Given the description of an element on the screen output the (x, y) to click on. 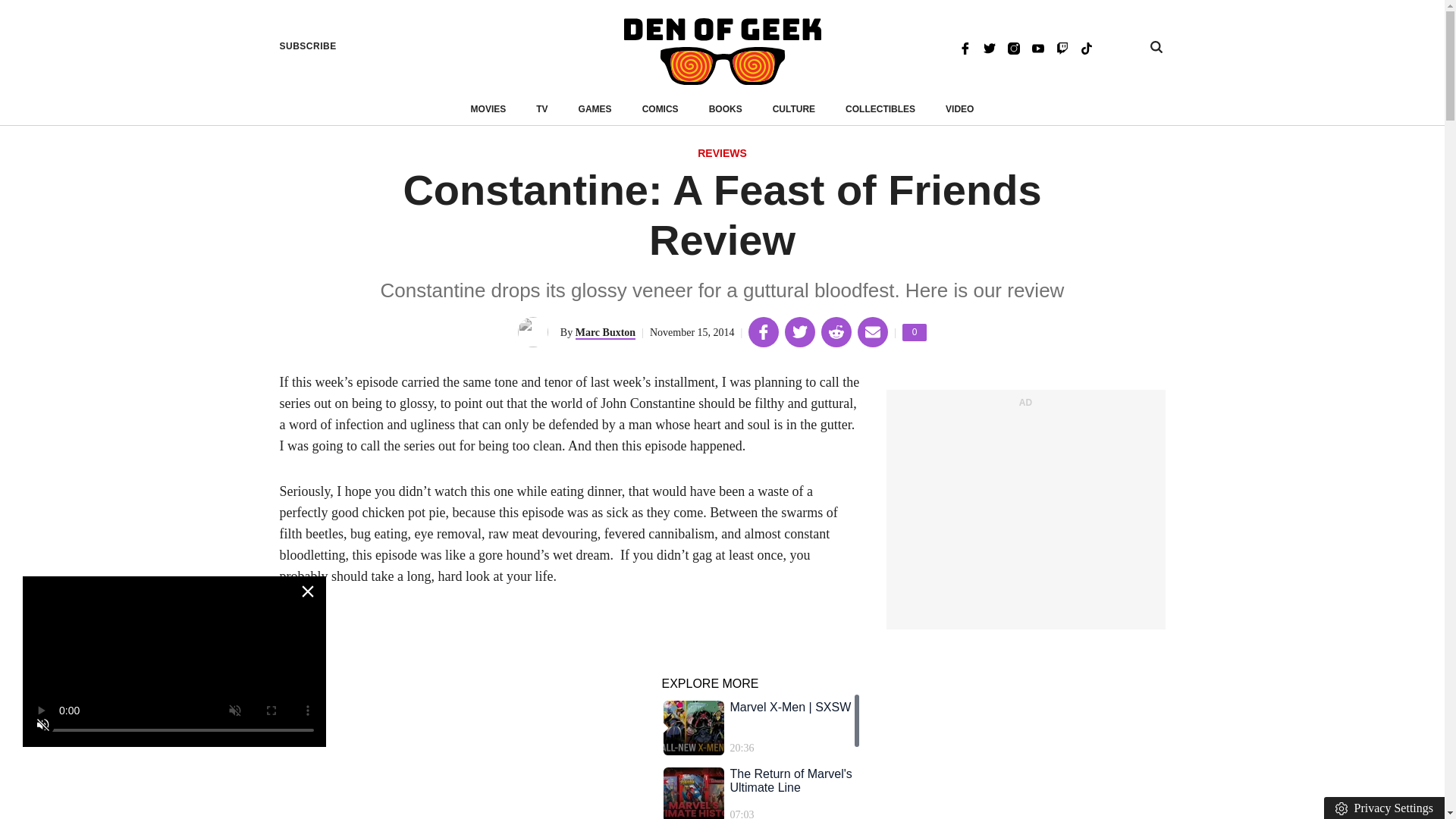
VIDEO (959, 109)
REVIEWS (721, 153)
COLLECTIBLES (880, 109)
Instagram (1013, 46)
COMICS (660, 109)
Den of Geek (722, 52)
TikTok (1085, 46)
Twitter (988, 46)
GAMES (594, 109)
BOOKS (725, 109)
Marc Buxton (604, 332)
Twitch (1061, 46)
3rd party ad content (914, 332)
MOVIES (1024, 516)
